Given the description of an element on the screen output the (x, y) to click on. 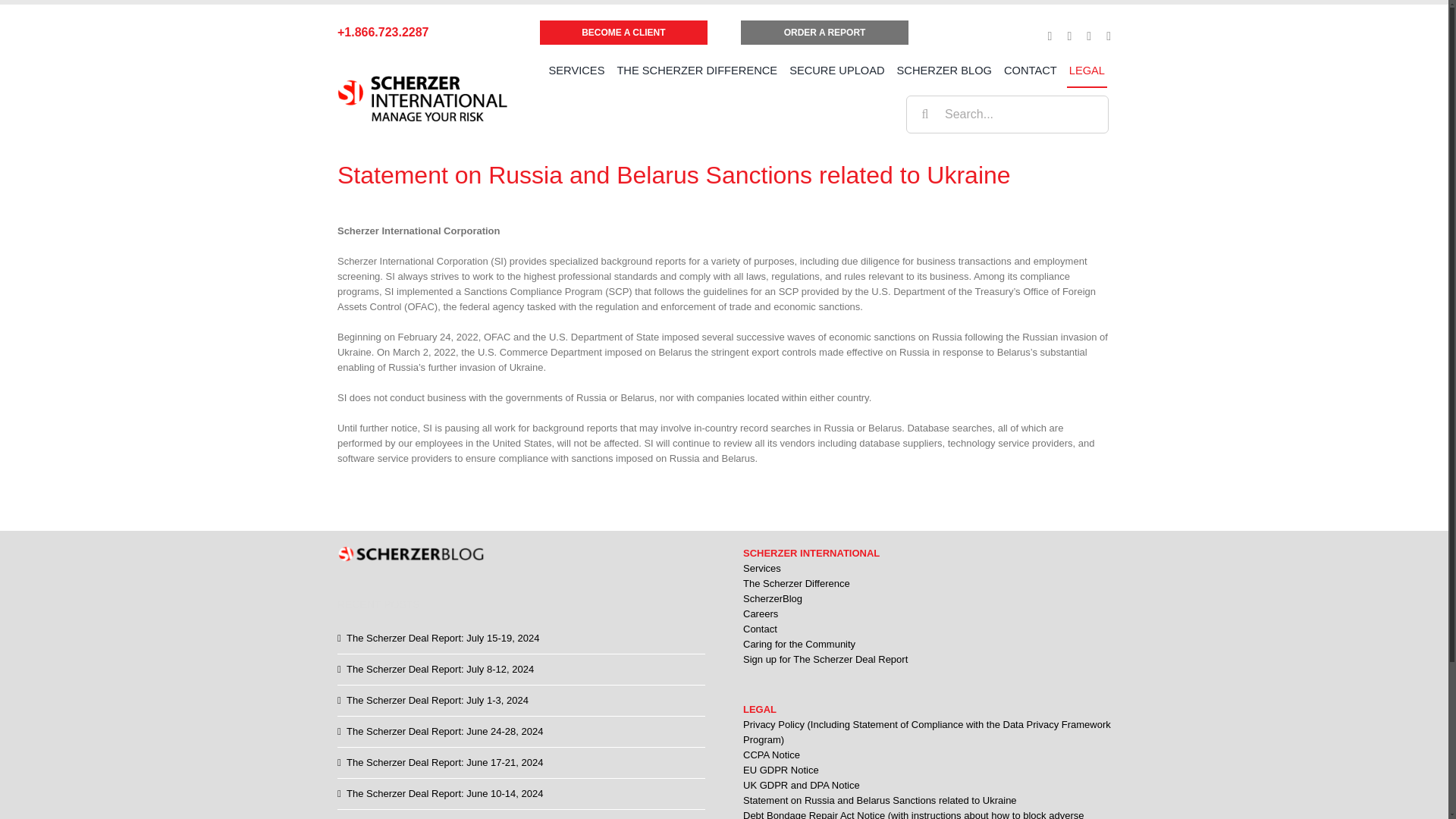
SCHERZER BLOG (944, 71)
SECURE UPLOAD (836, 71)
CONTACT (1030, 71)
ORDER A REPORT (824, 32)
THE SCHERZER DIFFERENCE (696, 71)
SERVICES (577, 71)
BECOME A CLIENT (623, 32)
LEGAL (1086, 71)
